Given the description of an element on the screen output the (x, y) to click on. 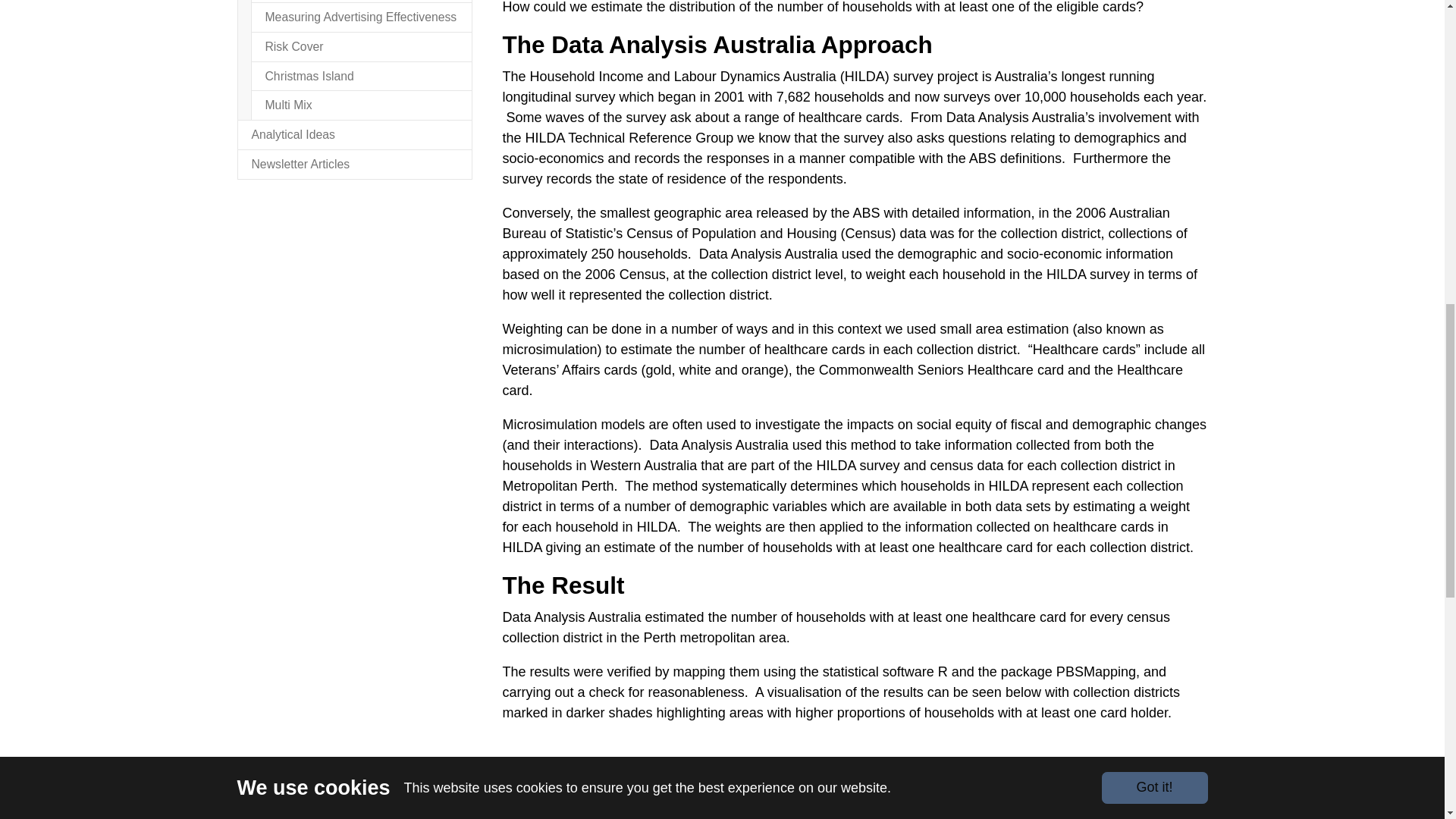
Risk Cover (360, 46)
Call Centre (360, 2)
Multi Mix (360, 105)
Measuring Advertising Effectiveness (360, 17)
Christmas Island (360, 76)
